Given the description of an element on the screen output the (x, y) to click on. 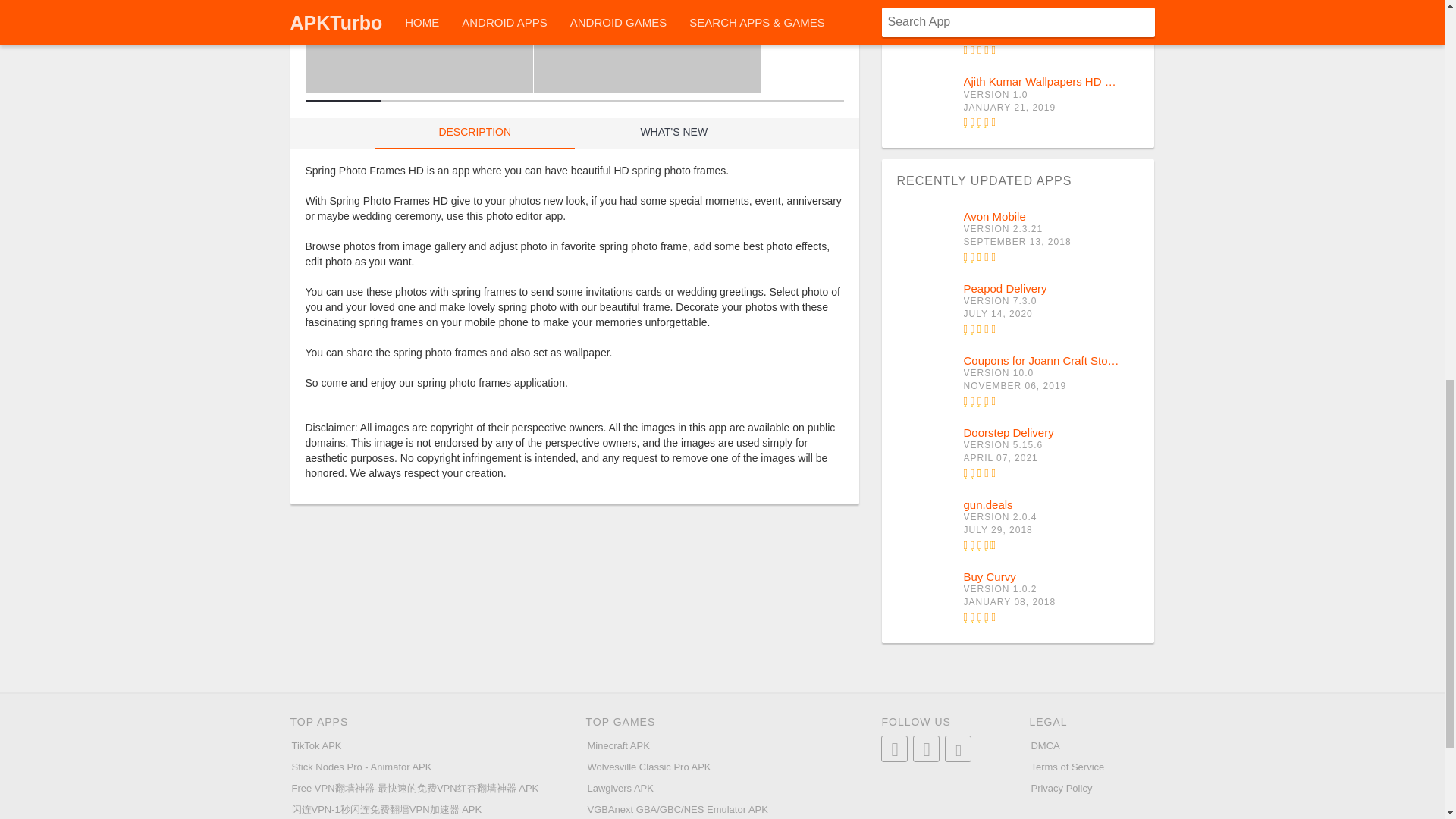
WHAT'S NEW (674, 132)
DESCRIPTION (475, 132)
TikTok APK (1017, 30)
